Given the description of an element on the screen output the (x, y) to click on. 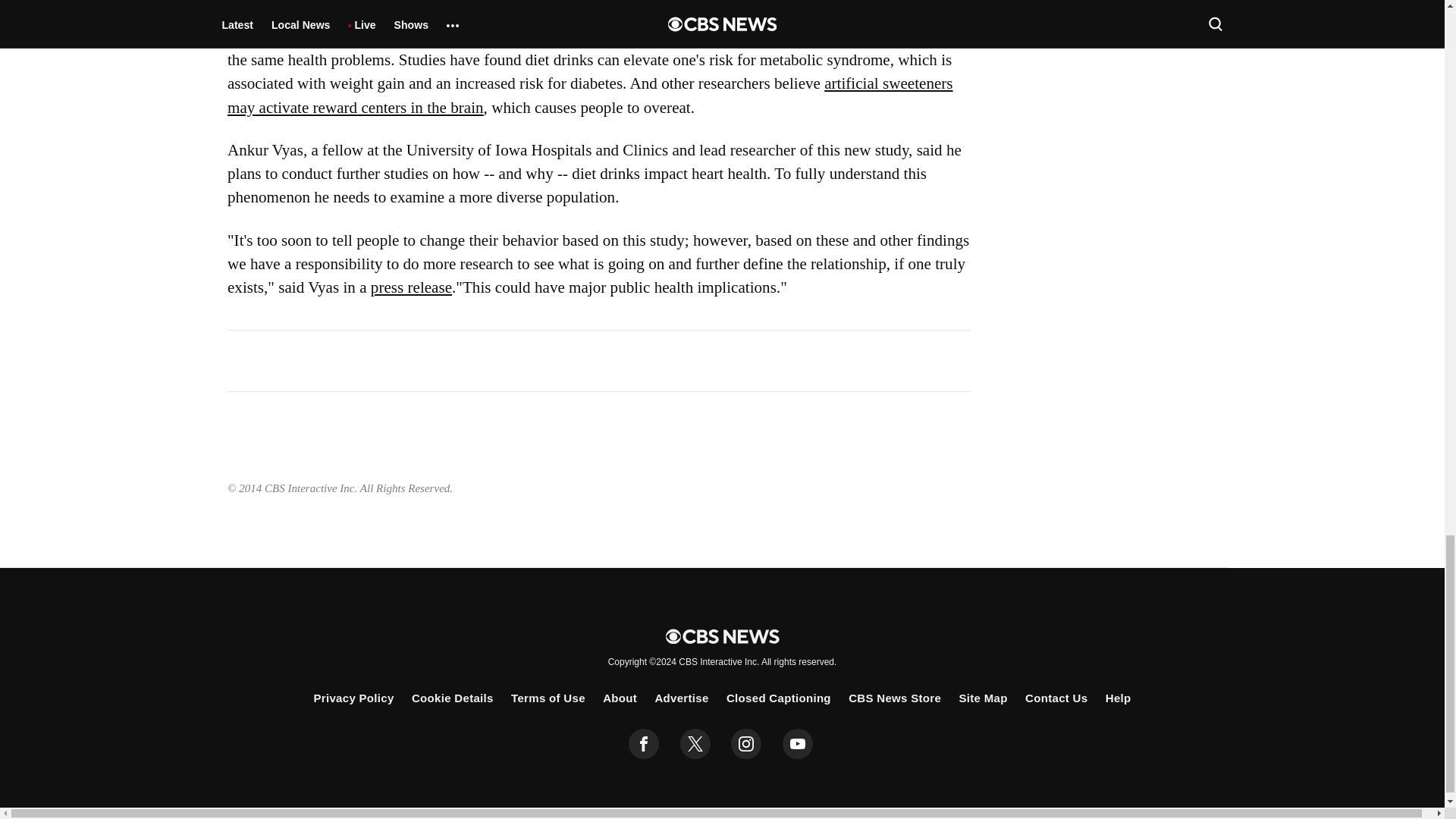
youtube (797, 743)
facebook (643, 743)
twitter (694, 743)
instagram (745, 743)
